Given the description of an element on the screen output the (x, y) to click on. 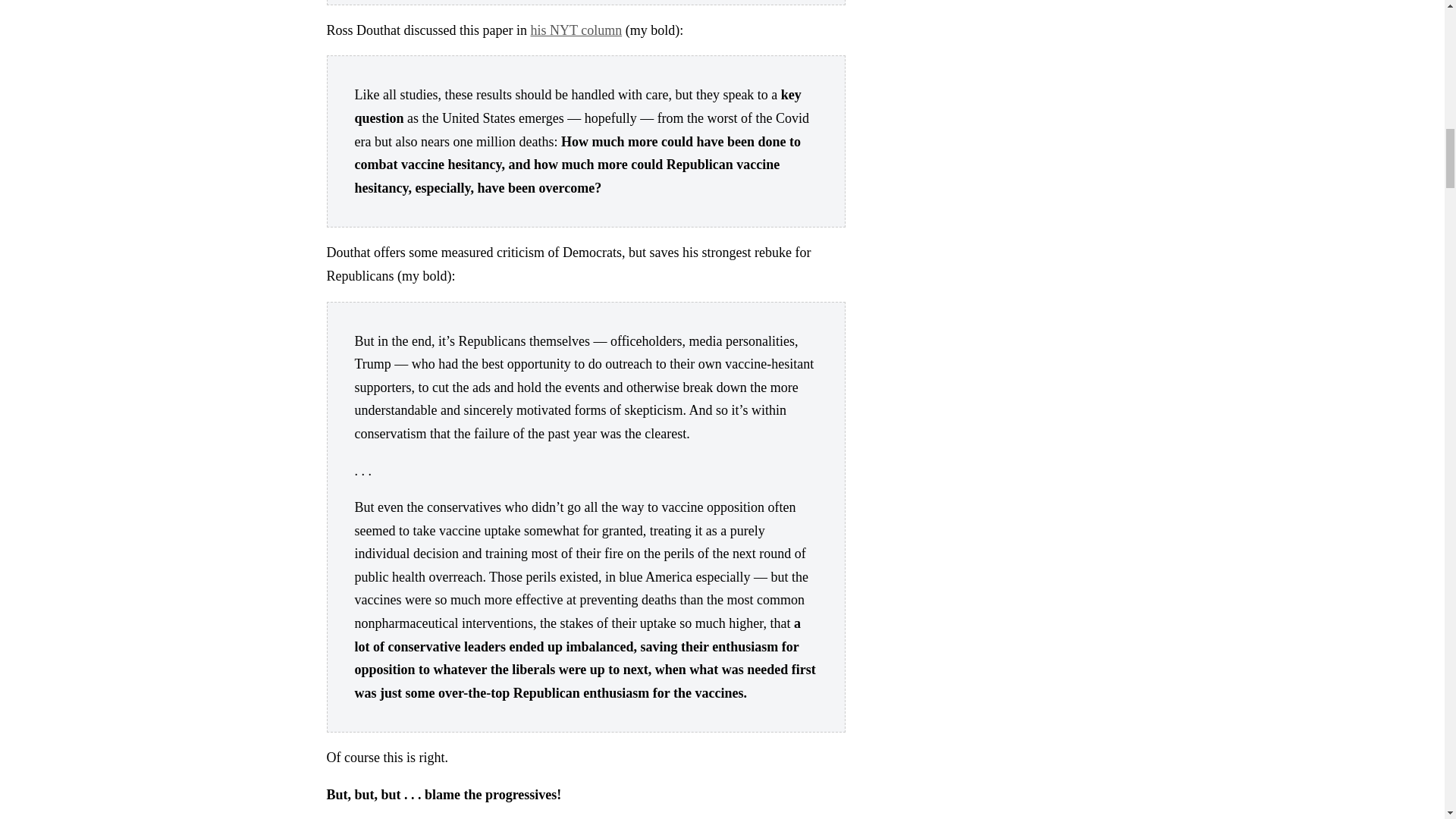
his NYT column (575, 29)
